Given the description of an element on the screen output the (x, y) to click on. 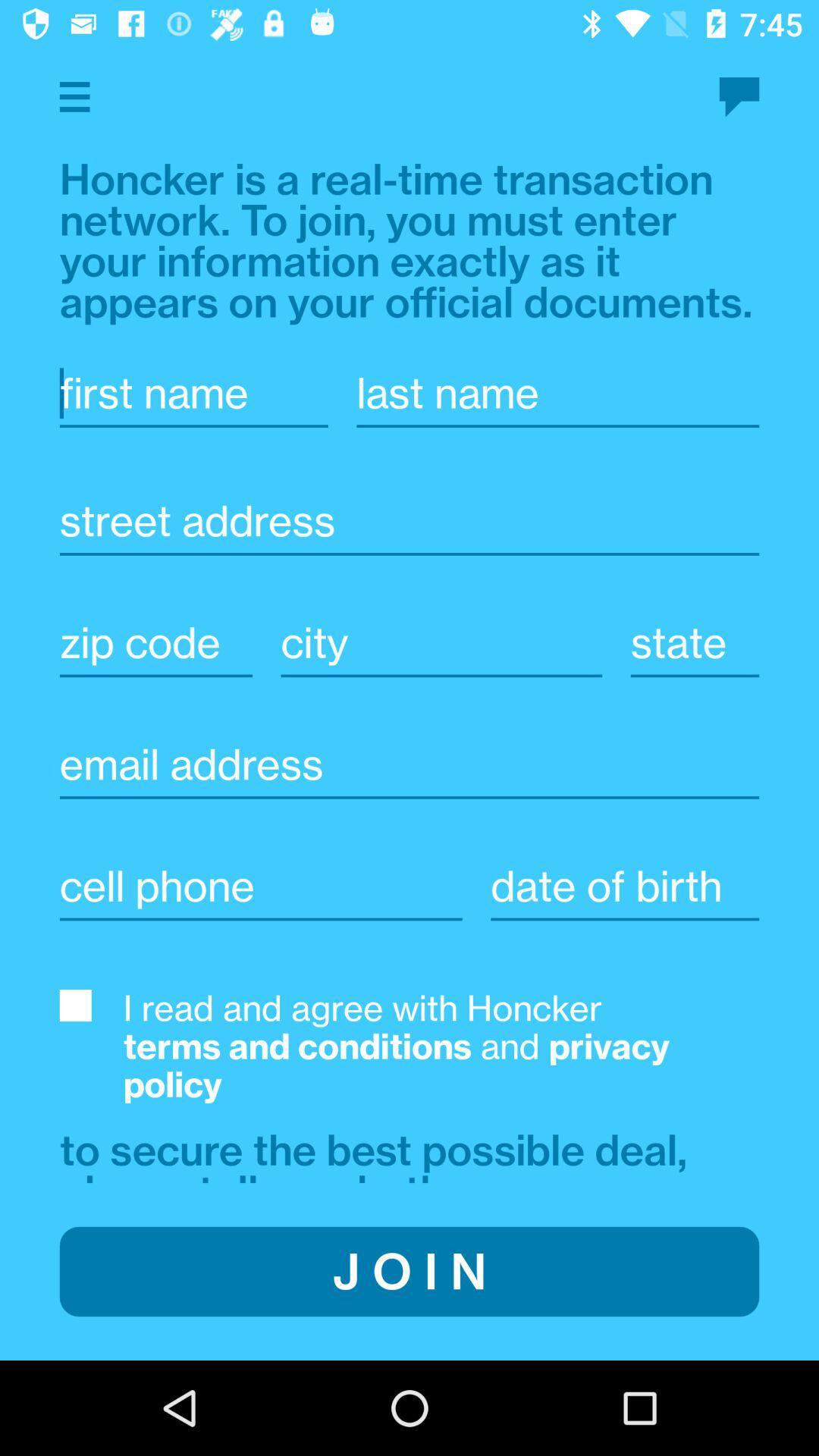
type date of birth (624, 886)
